Given the description of an element on the screen output the (x, y) to click on. 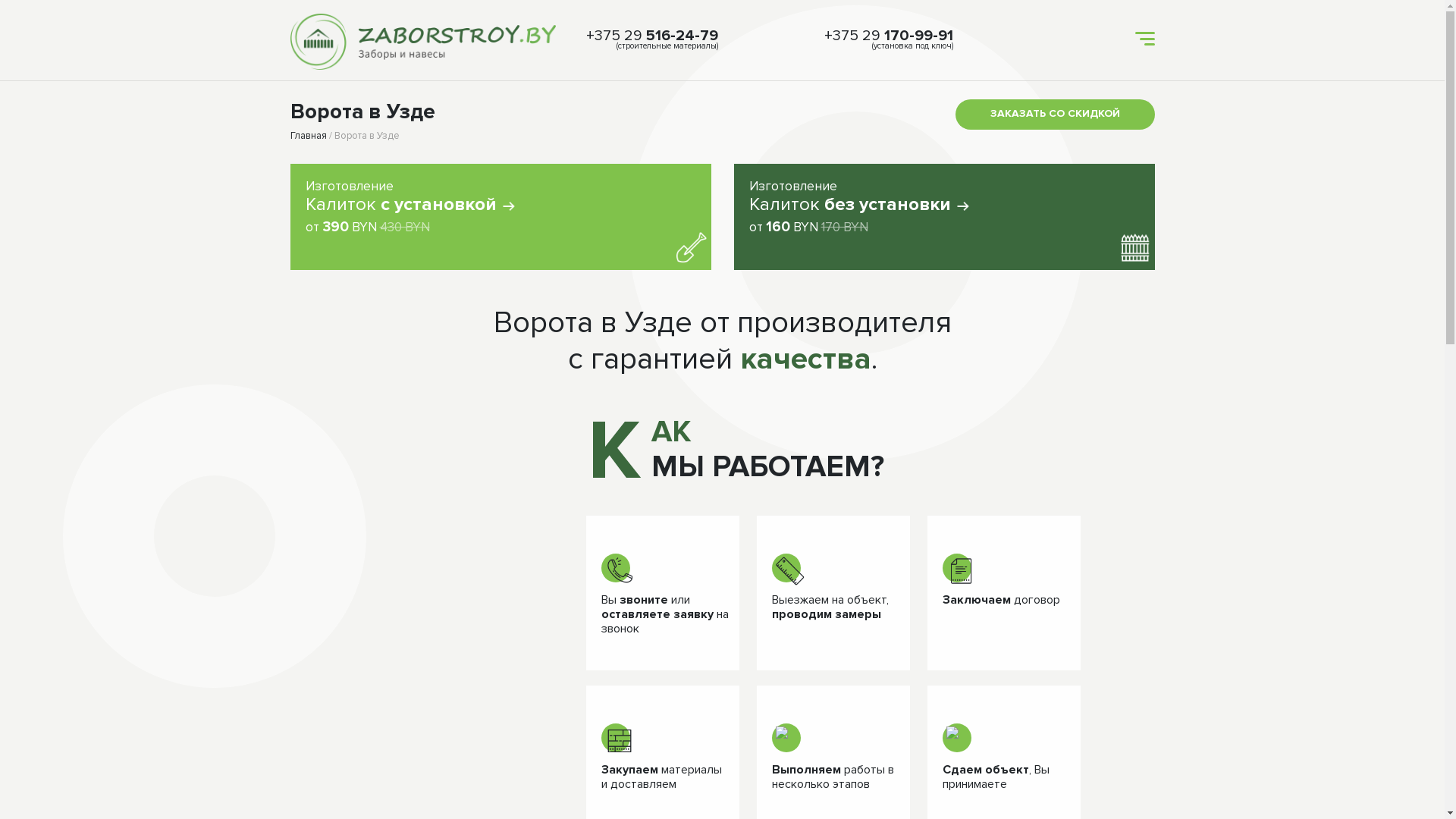
+375 29 170-99-91 Element type: text (888, 35)
+375 29 516-24-79 Element type: text (651, 35)
